Given the description of an element on the screen output the (x, y) to click on. 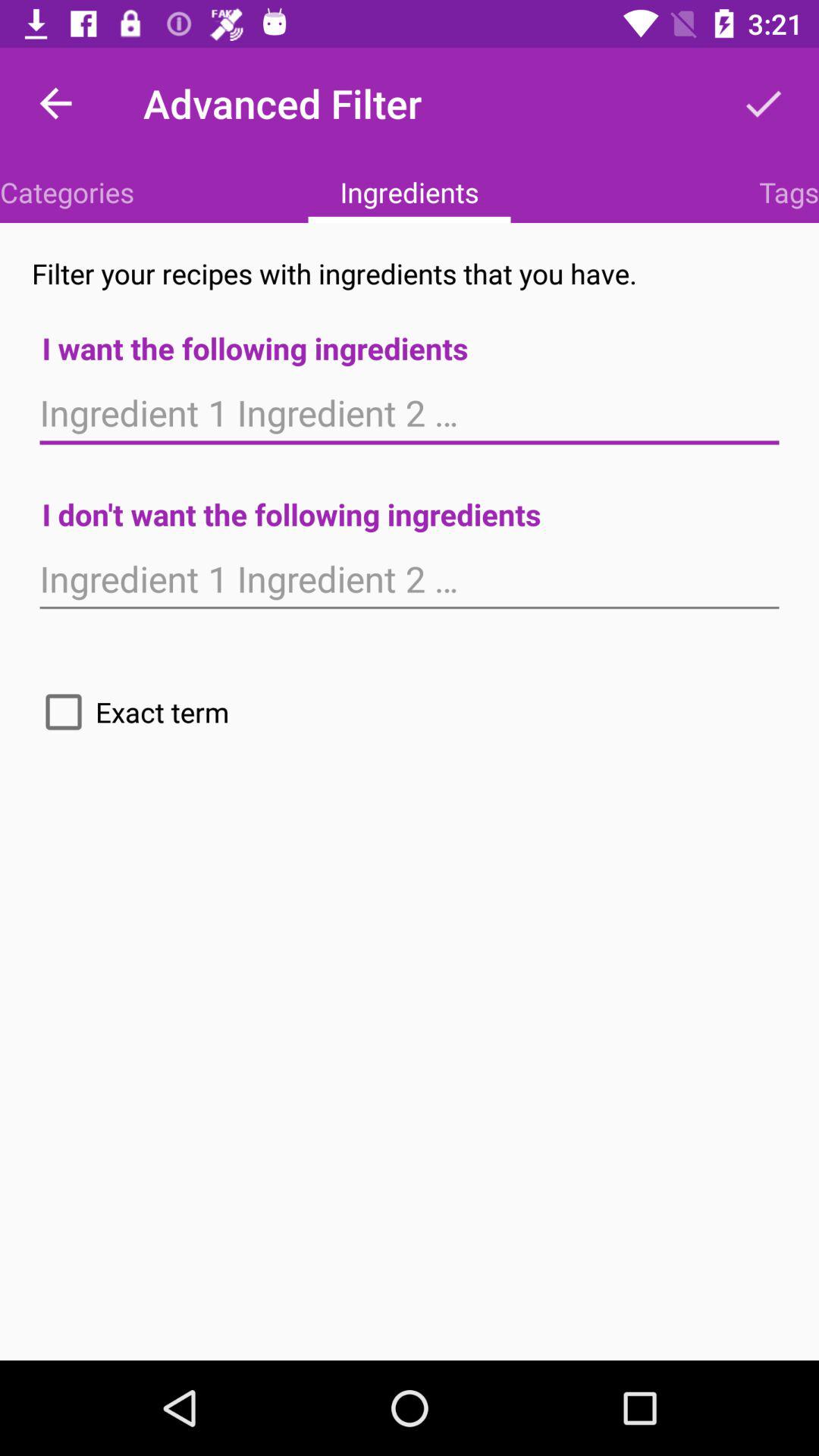
flip until the exact term (130, 711)
